Given the description of an element on the screen output the (x, y) to click on. 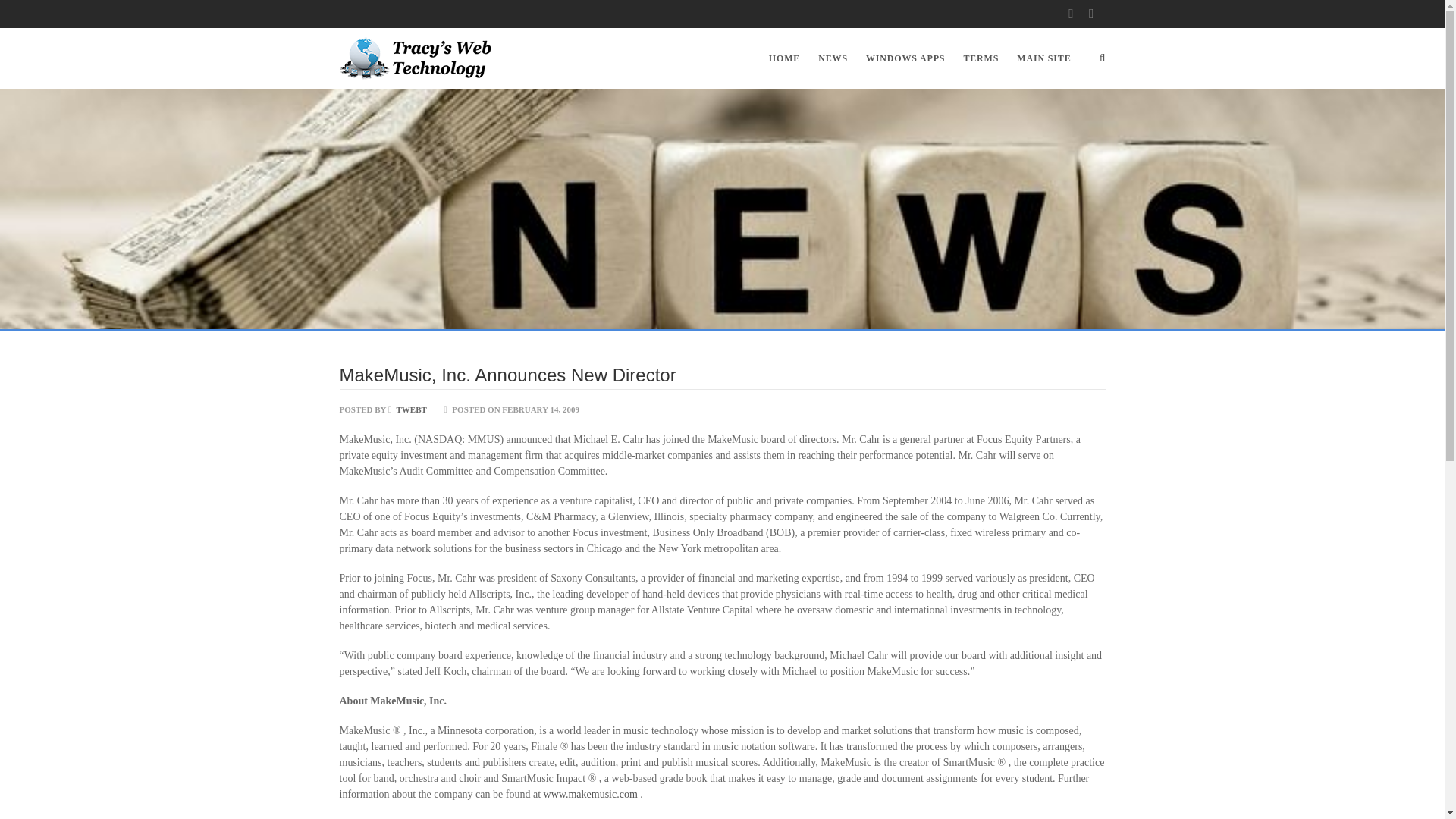
TWEBT (407, 409)
TWEBT Tech News (415, 58)
MAIN SITE (1038, 57)
WINDOWS APPS (905, 57)
www.makemusic.com (591, 794)
